Given the description of an element on the screen output the (x, y) to click on. 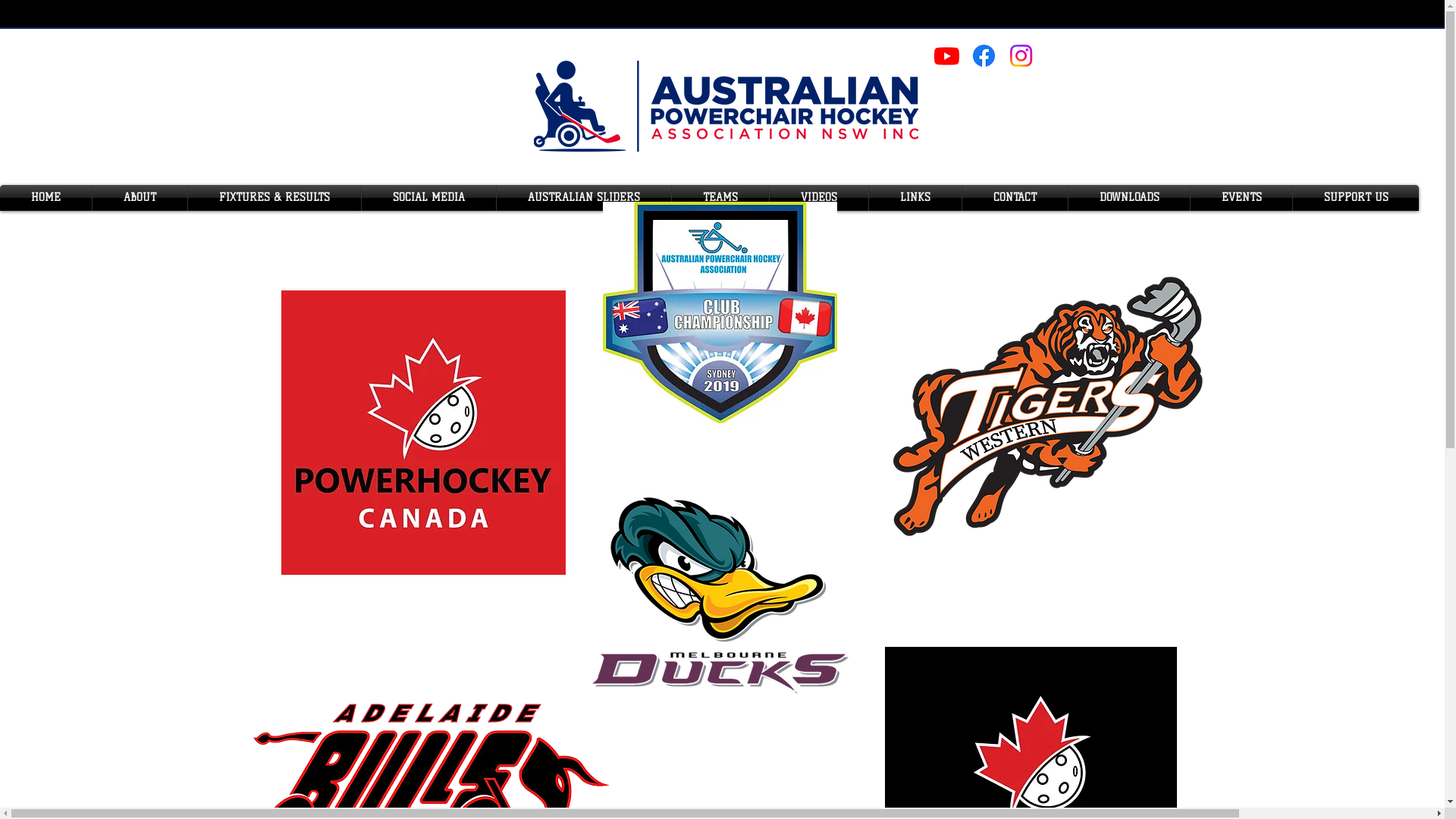
DOWNLOADS Element type: text (1128, 197)
SOCIAL MEDIA Element type: text (428, 197)
FIXTURES & RESULTS Element type: text (274, 197)
ABOUT Element type: text (139, 197)
melbourne ducks.png Element type: hover (718, 594)
finalhockeylogo1.jpg Element type: hover (719, 312)
Western Tigers.png Element type: hover (1045, 405)
TEAMS Element type: text (719, 197)
AUSTRALIAN SLIDERS Element type: text (583, 197)
PowerHockey Canada Red        2500x2500. Element type: hover (422, 432)
EVENTS Element type: text (1241, 197)
LINKS Element type: text (915, 197)
CONTACT Element type: text (1014, 197)
VIDEOS Element type: text (818, 197)
HOME Element type: text (45, 197)
